Given the description of an element on the screen output the (x, y) to click on. 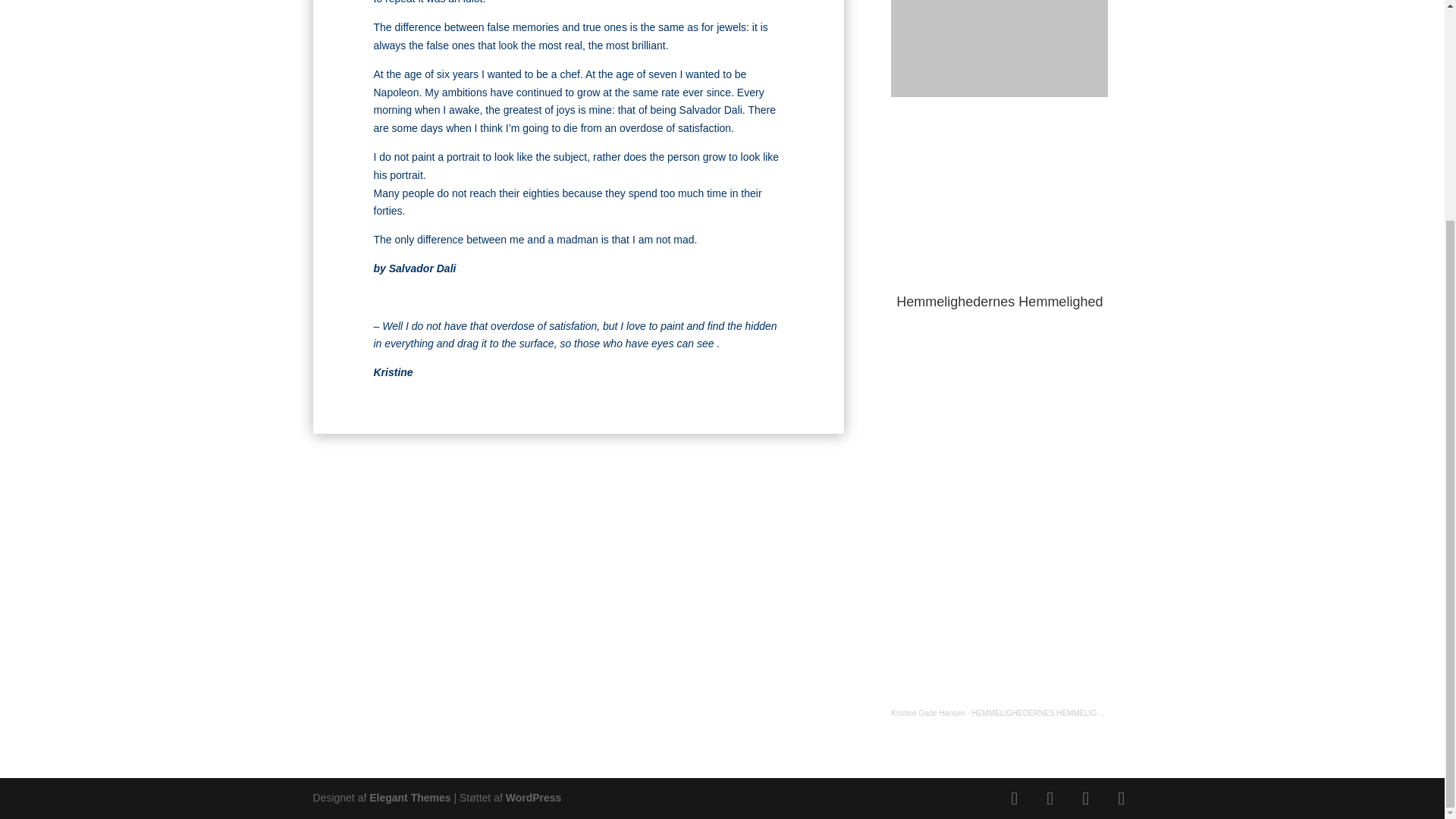
Premium WordPress Themes (409, 797)
Hemmelighedernes hemmelighed (999, 197)
Kristine Gade Hansen (928, 713)
HEMMELIGHEDERNES HEMMELIGHED (1041, 713)
